Given the description of an element on the screen output the (x, y) to click on. 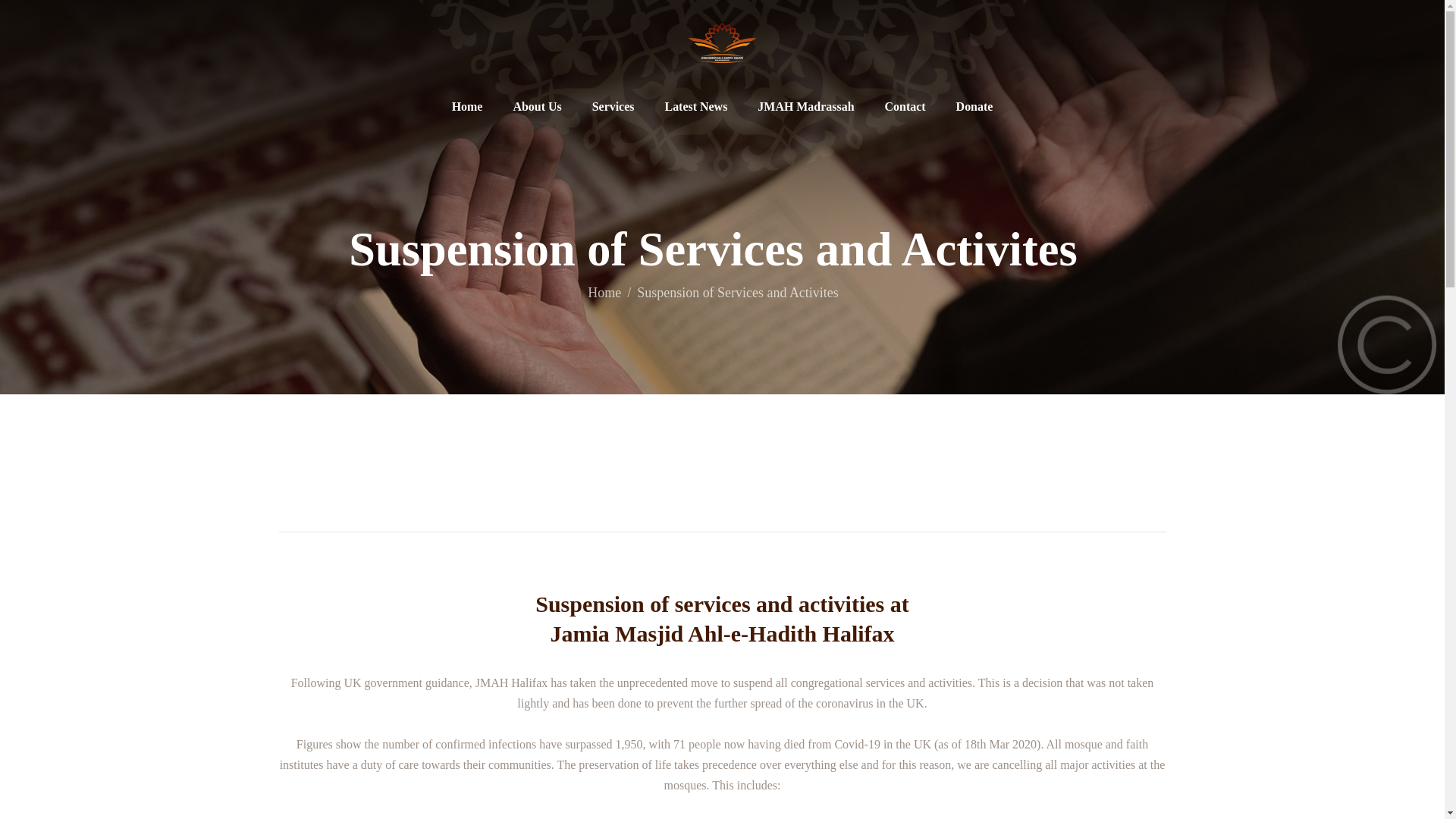
Home (604, 293)
Latest News (695, 107)
Donate (974, 107)
Services (612, 107)
About Us (536, 107)
Contact (904, 107)
Home (466, 107)
JMAH Madrassah (805, 107)
